Given the description of an element on the screen output the (x, y) to click on. 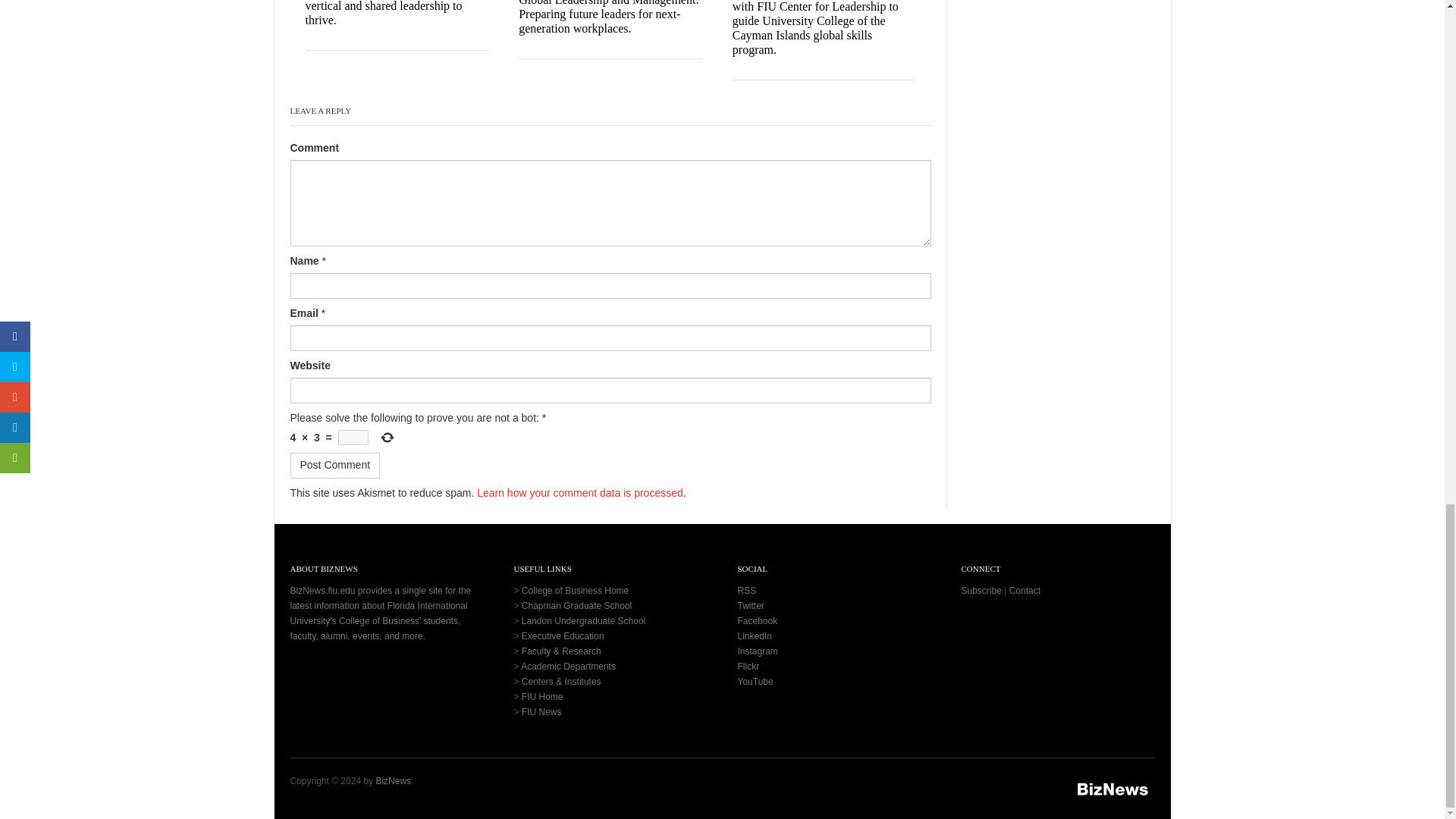
BizNews (1113, 788)
Post Comment (334, 465)
